Given the description of an element on the screen output the (x, y) to click on. 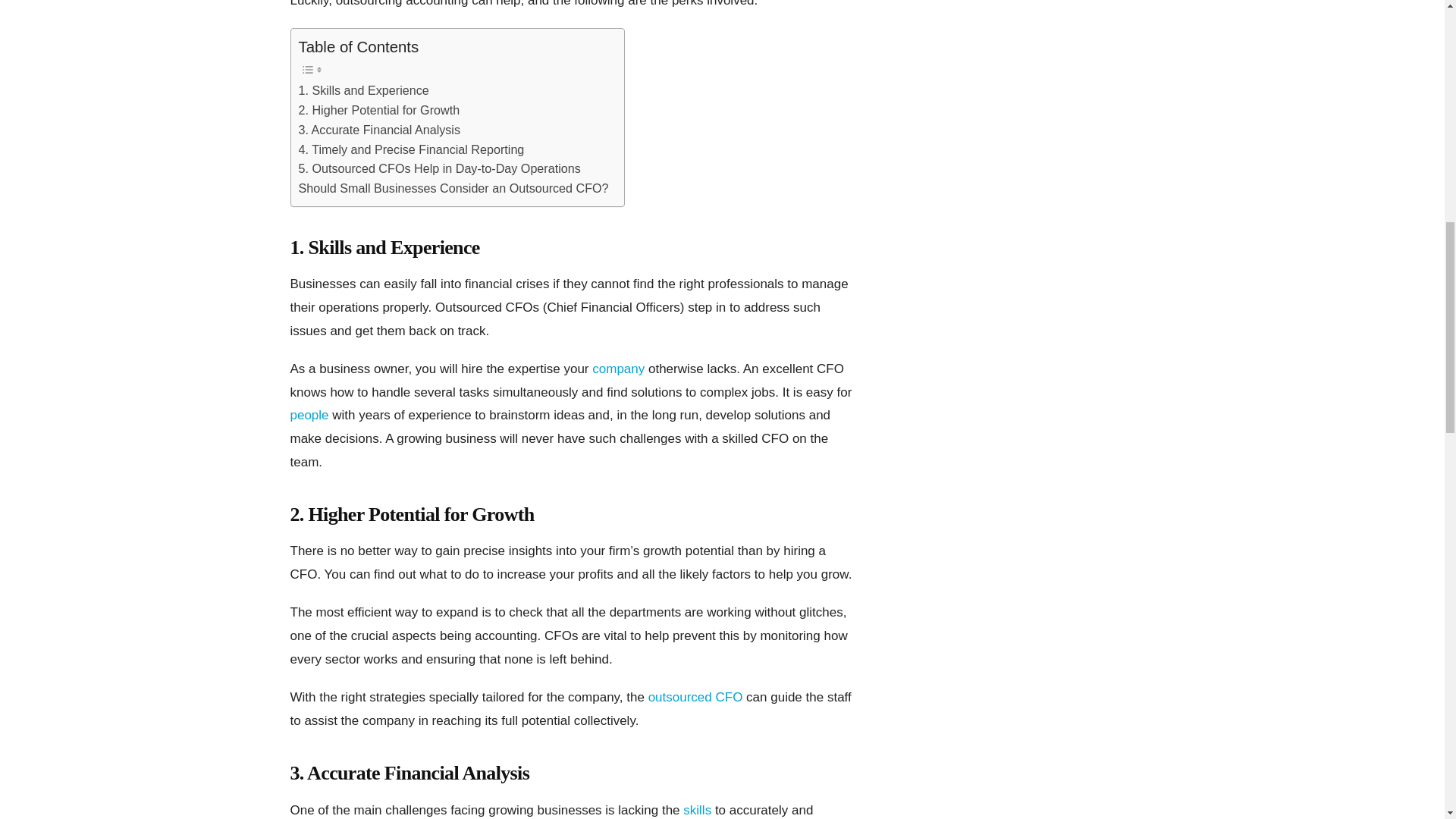
3. Accurate Financial Analysis (379, 130)
5. Outsourced CFOs Help in Day-to-Day Operations (439, 168)
4. Timely and Precise Financial Reporting (411, 149)
outsourced CFO (694, 697)
company (618, 368)
Should Small Businesses Consider an Outsourced CFO? (453, 189)
1. Skills and Experience (363, 90)
4. Timely and Precise Financial Reporting (411, 149)
Should Small Businesses Consider an Outsourced CFO? (453, 189)
2. Higher Potential for Growth (379, 110)
